Given the description of an element on the screen output the (x, y) to click on. 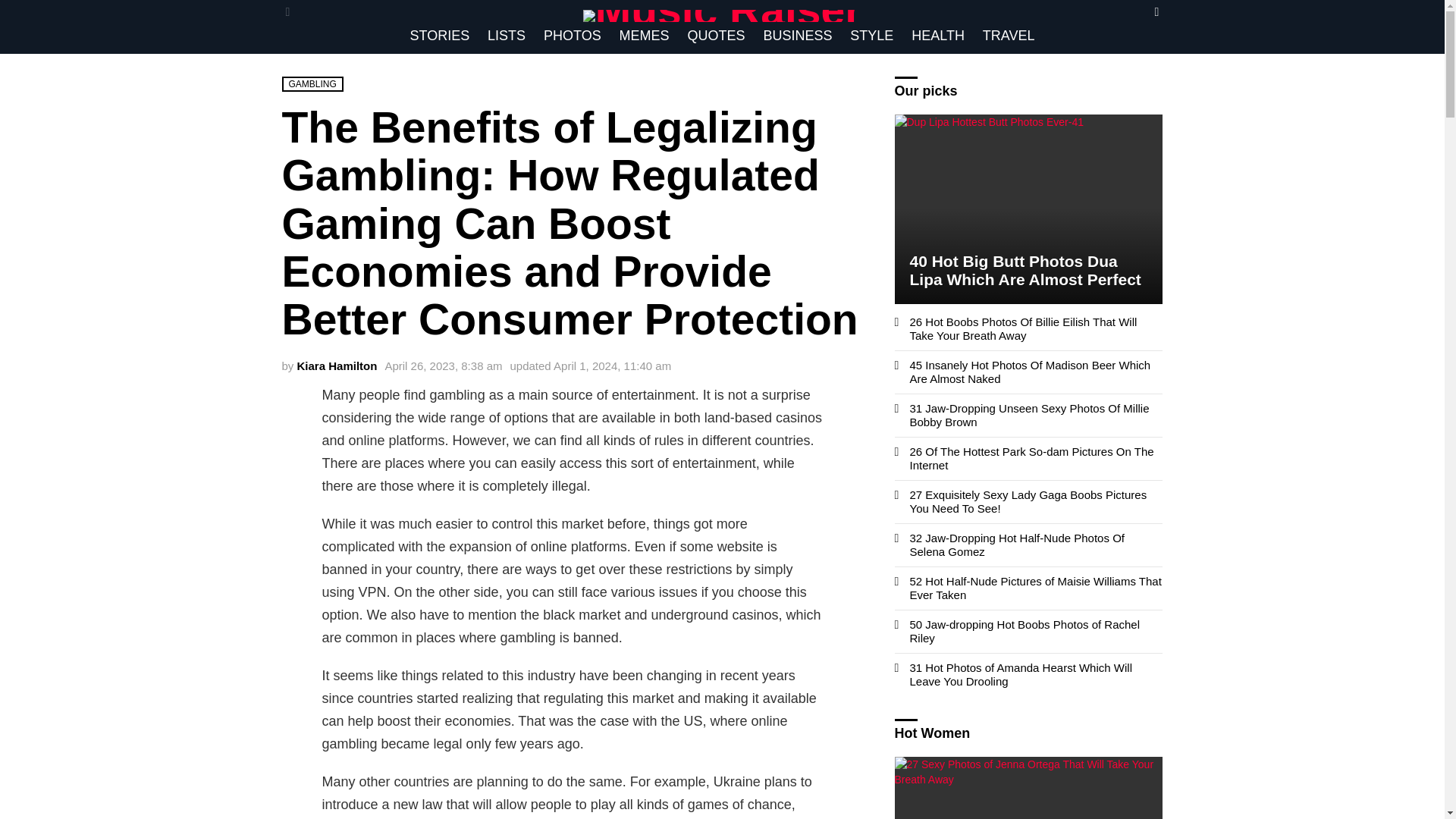
Posts by Kiara Hamilton (337, 365)
BUSINESS (797, 35)
STYLE (872, 35)
Kiara Hamilton (337, 365)
TRAVEL (1008, 35)
40 Hot Big Butt Photos Dua Lipa Which Are Almost Perfect (1029, 208)
STORIES (439, 35)
GAMBLING (312, 83)
LISTS (506, 35)
HEALTH (938, 35)
